Given the description of an element on the screen output the (x, y) to click on. 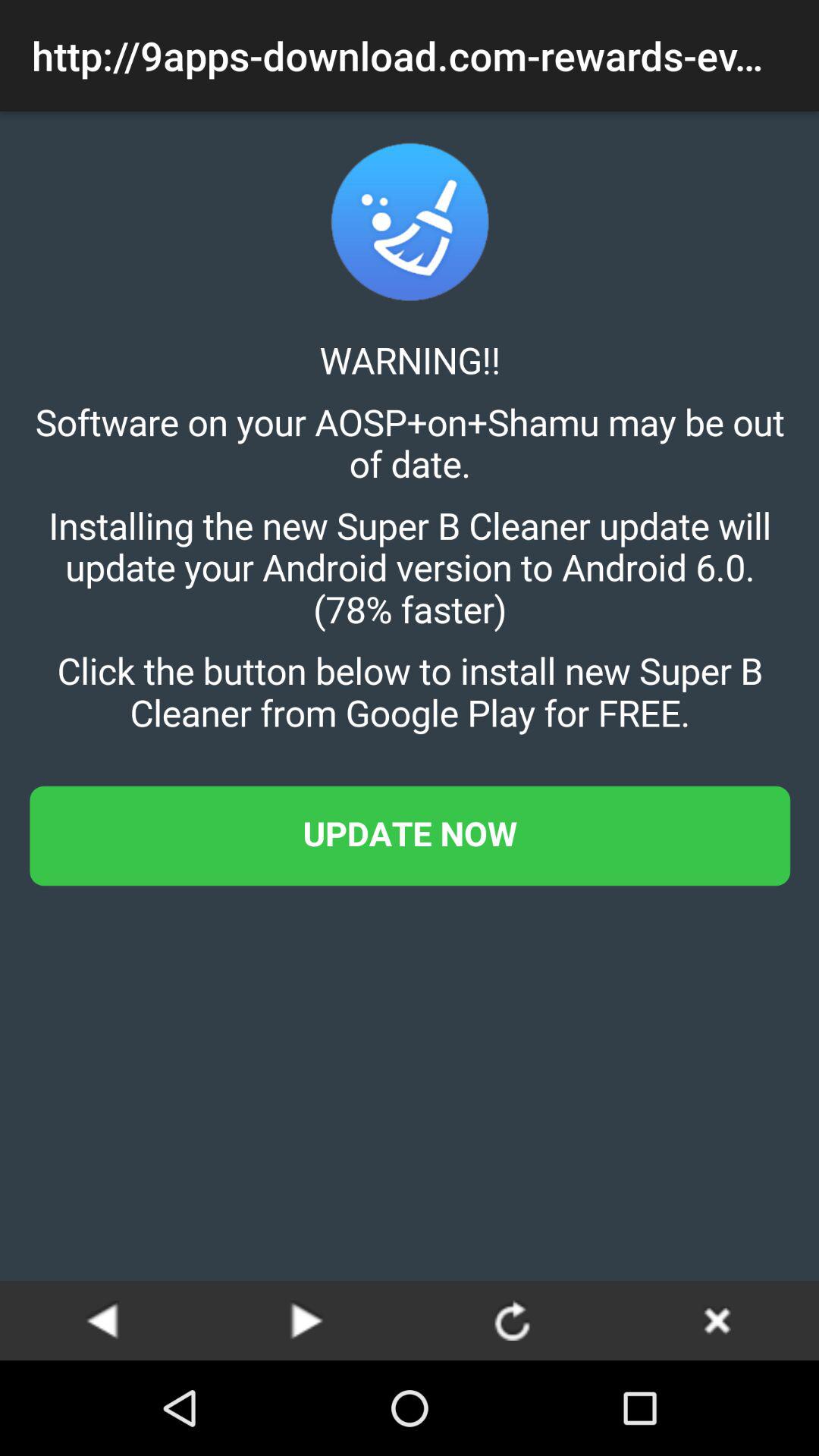
refresh (511, 1320)
